Given the description of an element on the screen output the (x, y) to click on. 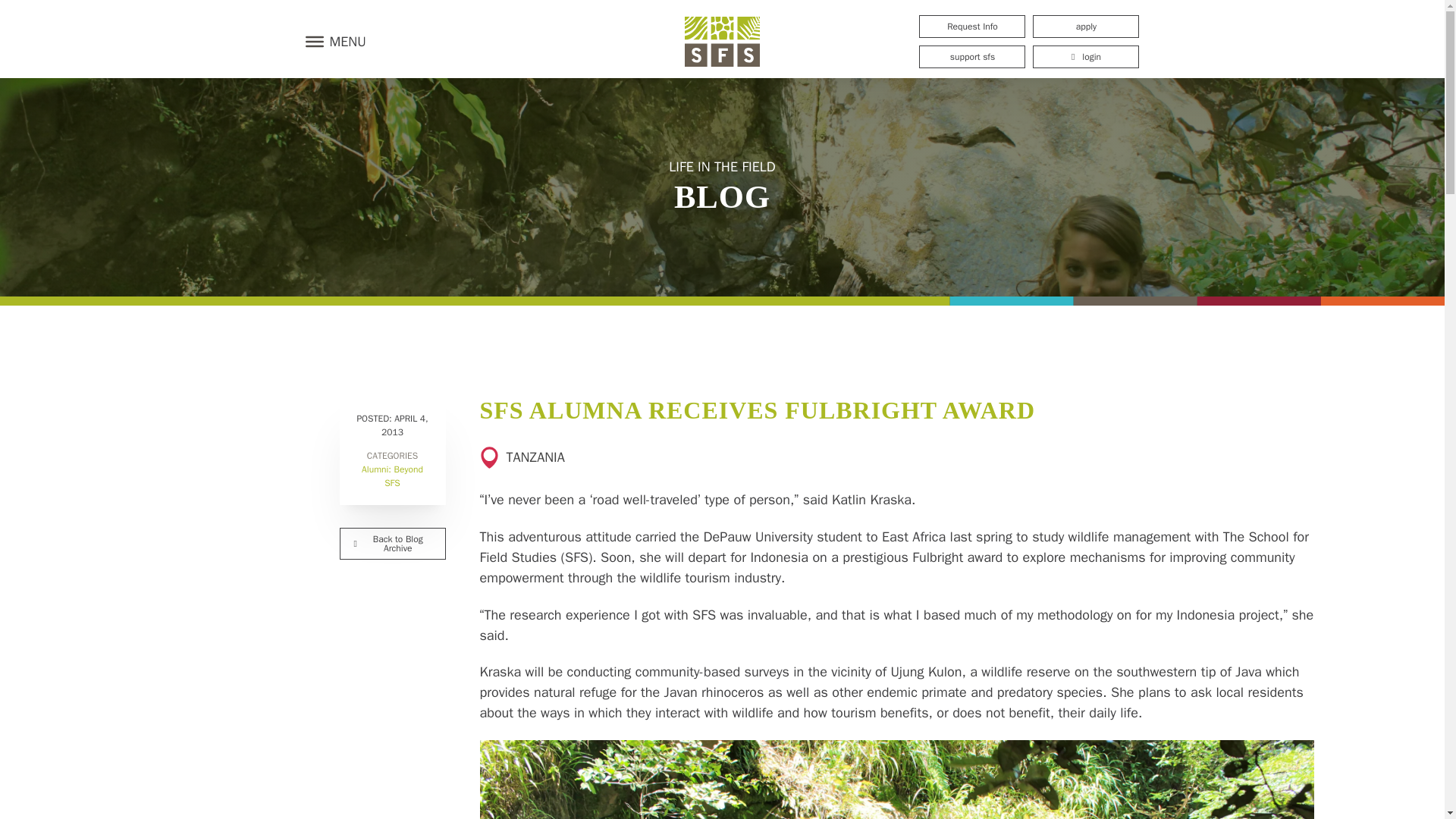
apply (1085, 26)
login (1085, 56)
support sfs (971, 56)
Request Info (971, 26)
K Kraska 2 (896, 779)
MENU (331, 41)
